Given the description of an element on the screen output the (x, y) to click on. 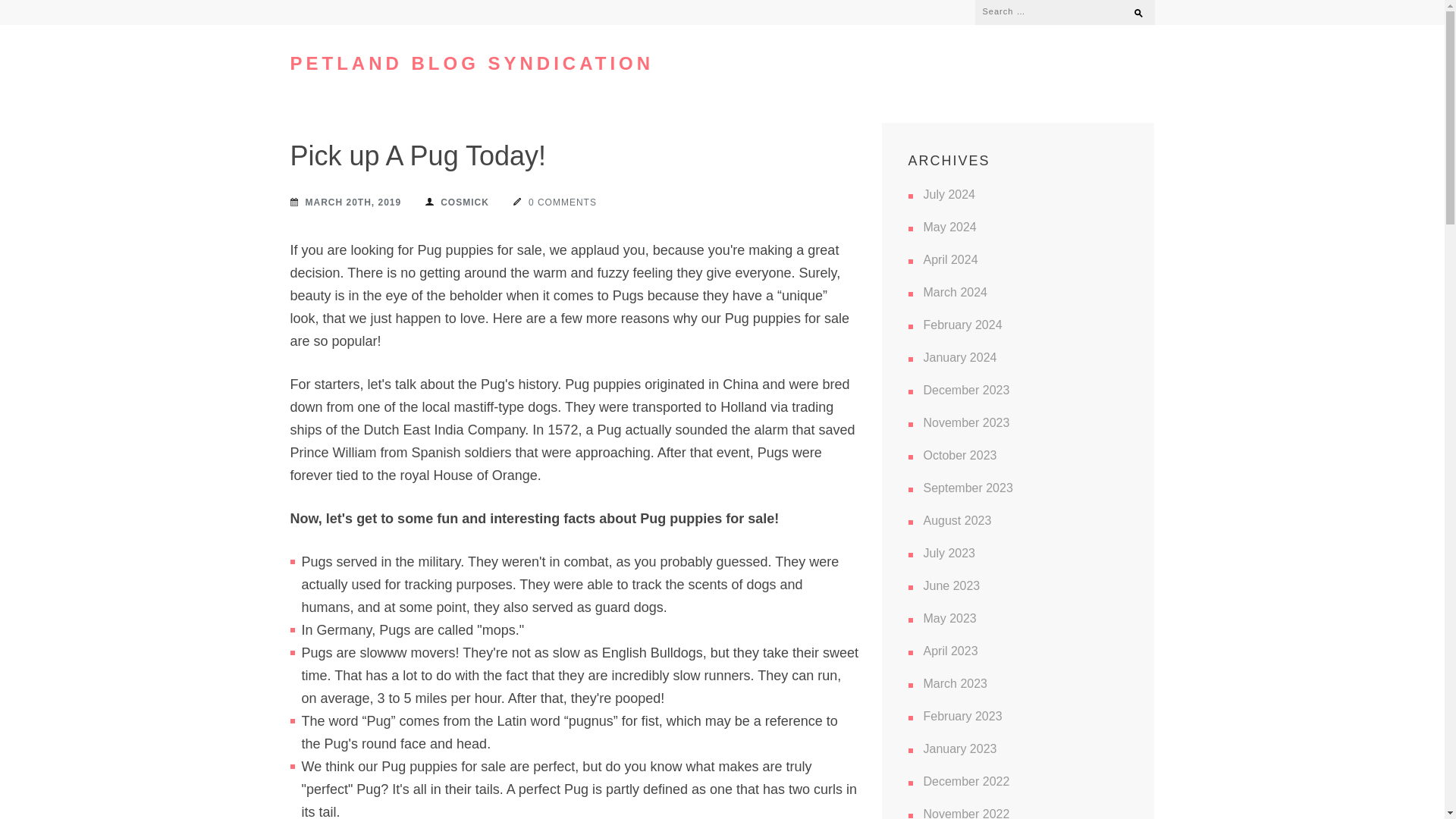
February 2024 (963, 324)
October 2023 (960, 454)
August 2023 (957, 520)
July 2024 (949, 194)
May 2024 (949, 226)
November 2022 (966, 813)
0 COMMENTS (554, 201)
July 2023 (949, 553)
March 2023 (955, 683)
June 2023 (951, 585)
